Given the description of an element on the screen output the (x, y) to click on. 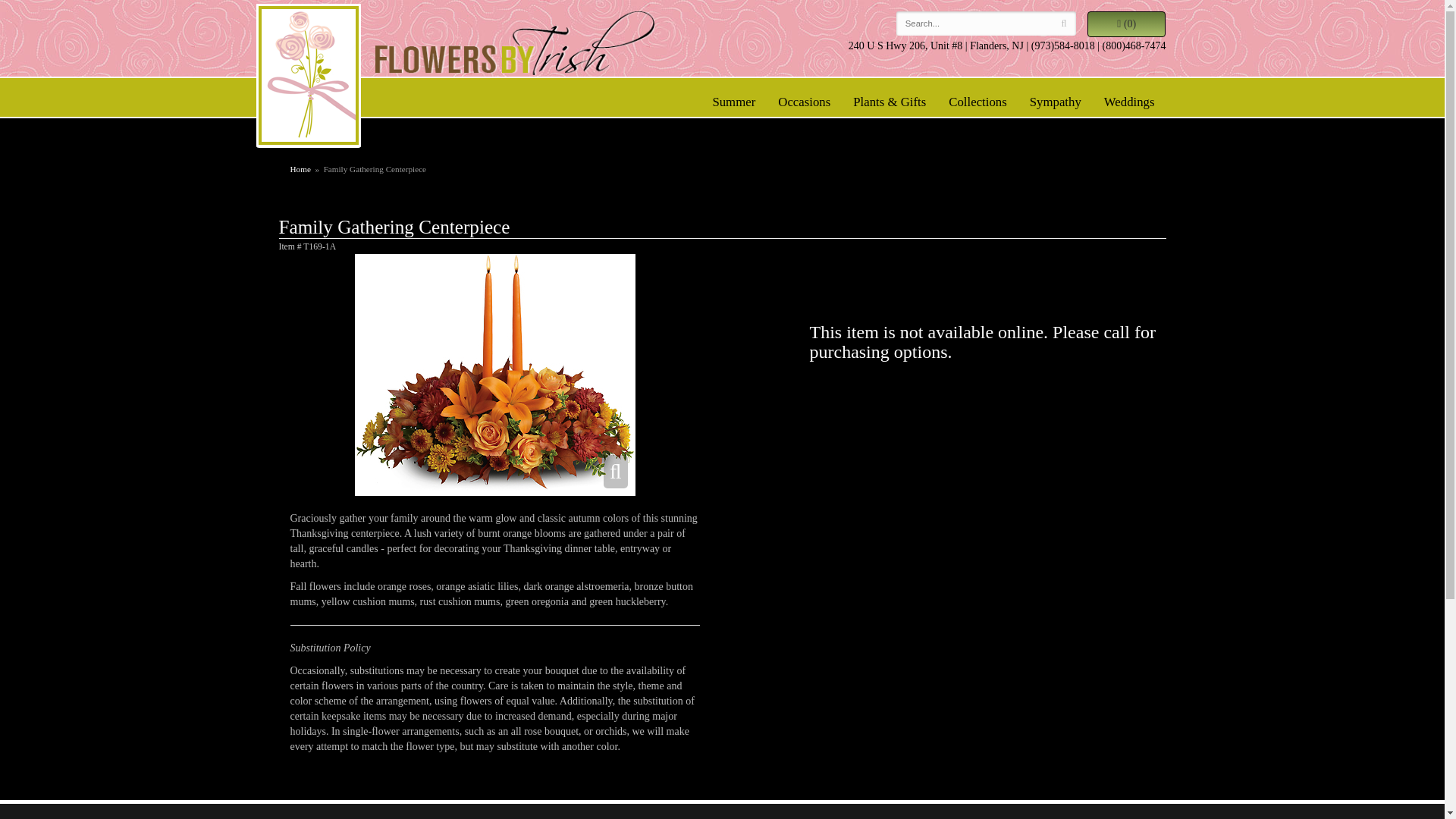
Summer (733, 102)
Occasions (804, 102)
Weddings (1129, 102)
Sympathy (1055, 102)
Collections (977, 102)
Flowers by Trish (514, 46)
